Given the description of an element on the screen output the (x, y) to click on. 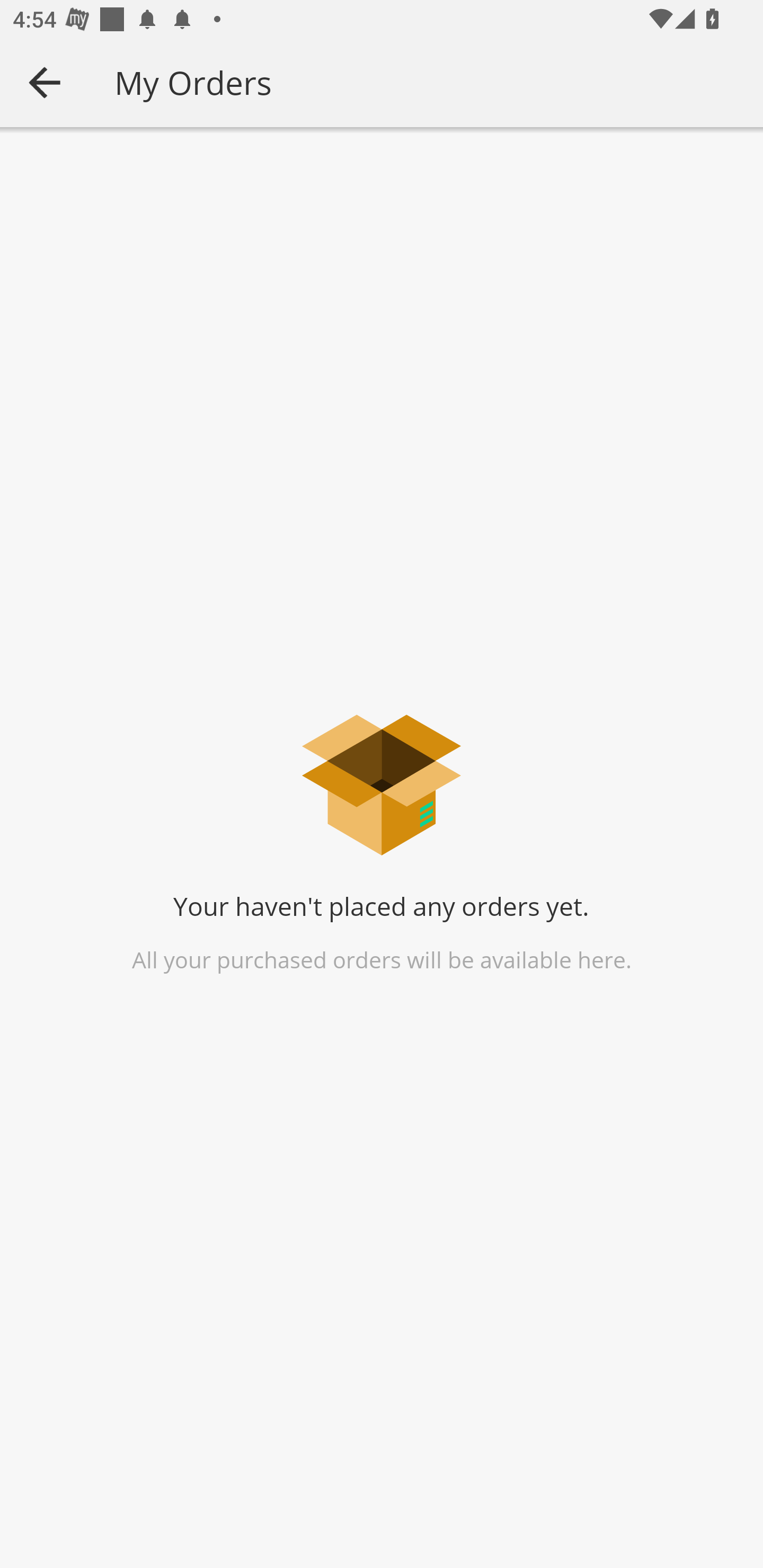
Navigate up (44, 82)
